Given the description of an element on the screen output the (x, y) to click on. 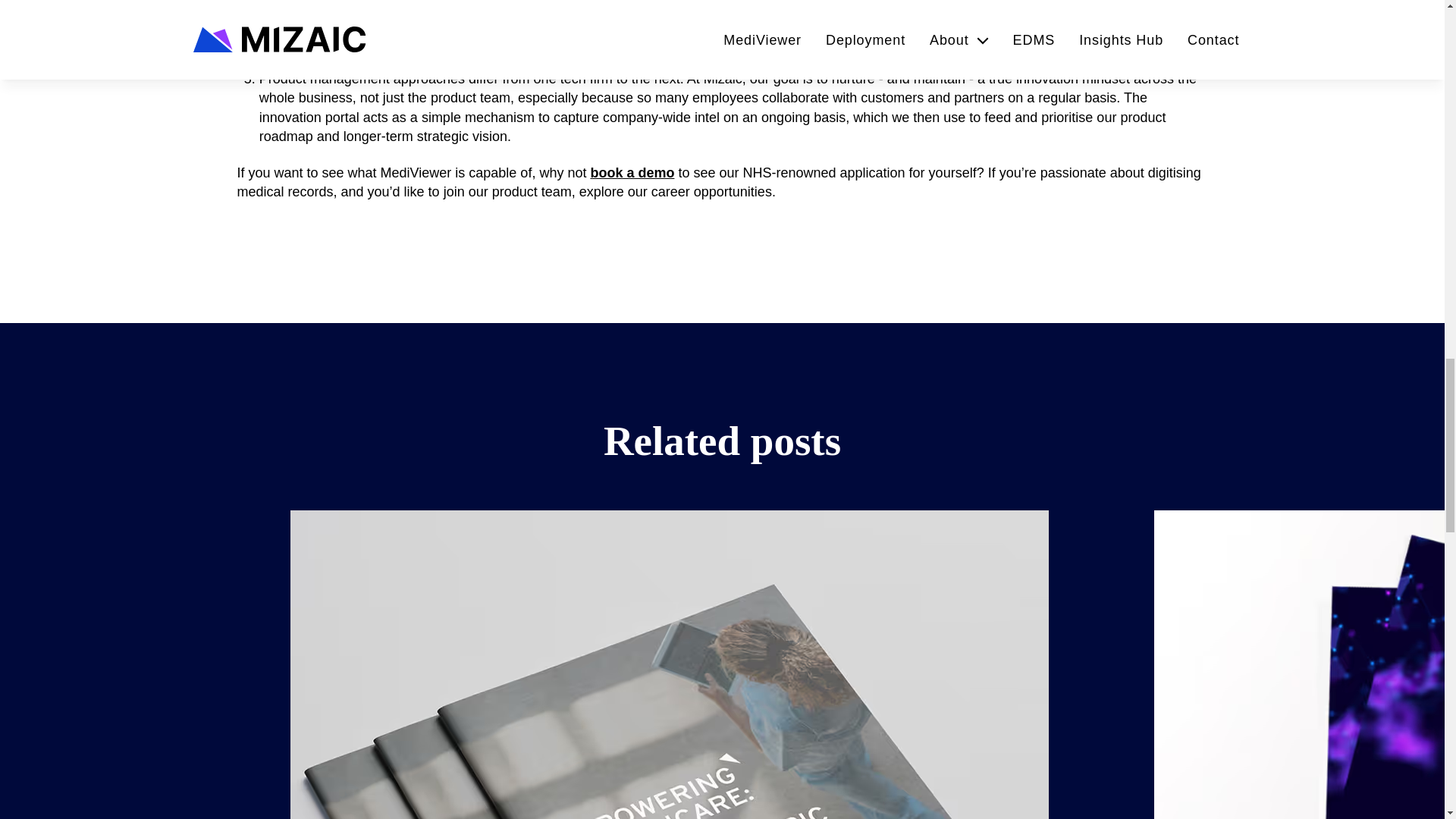
book a demo (631, 172)
MediViewer (634, 52)
